Given the description of an element on the screen output the (x, y) to click on. 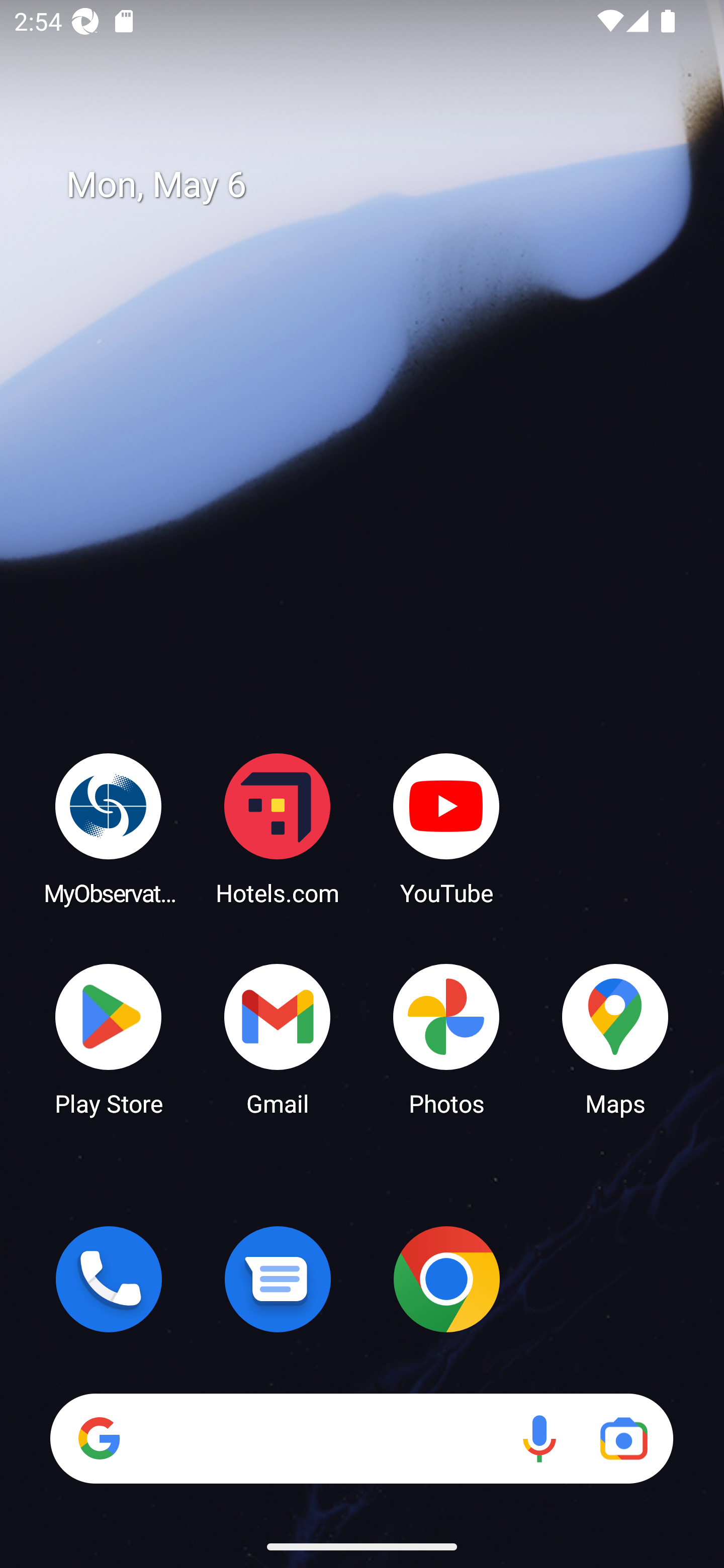
Mon, May 6 (375, 184)
MyObservatory (108, 828)
Hotels.com (277, 828)
YouTube (445, 828)
Play Store (108, 1038)
Gmail (277, 1038)
Photos (445, 1038)
Maps (615, 1038)
Phone (108, 1279)
Messages (277, 1279)
Chrome (446, 1279)
Search Voice search Google Lens (361, 1438)
Voice search (539, 1438)
Google Lens (623, 1438)
